Given the description of an element on the screen output the (x, y) to click on. 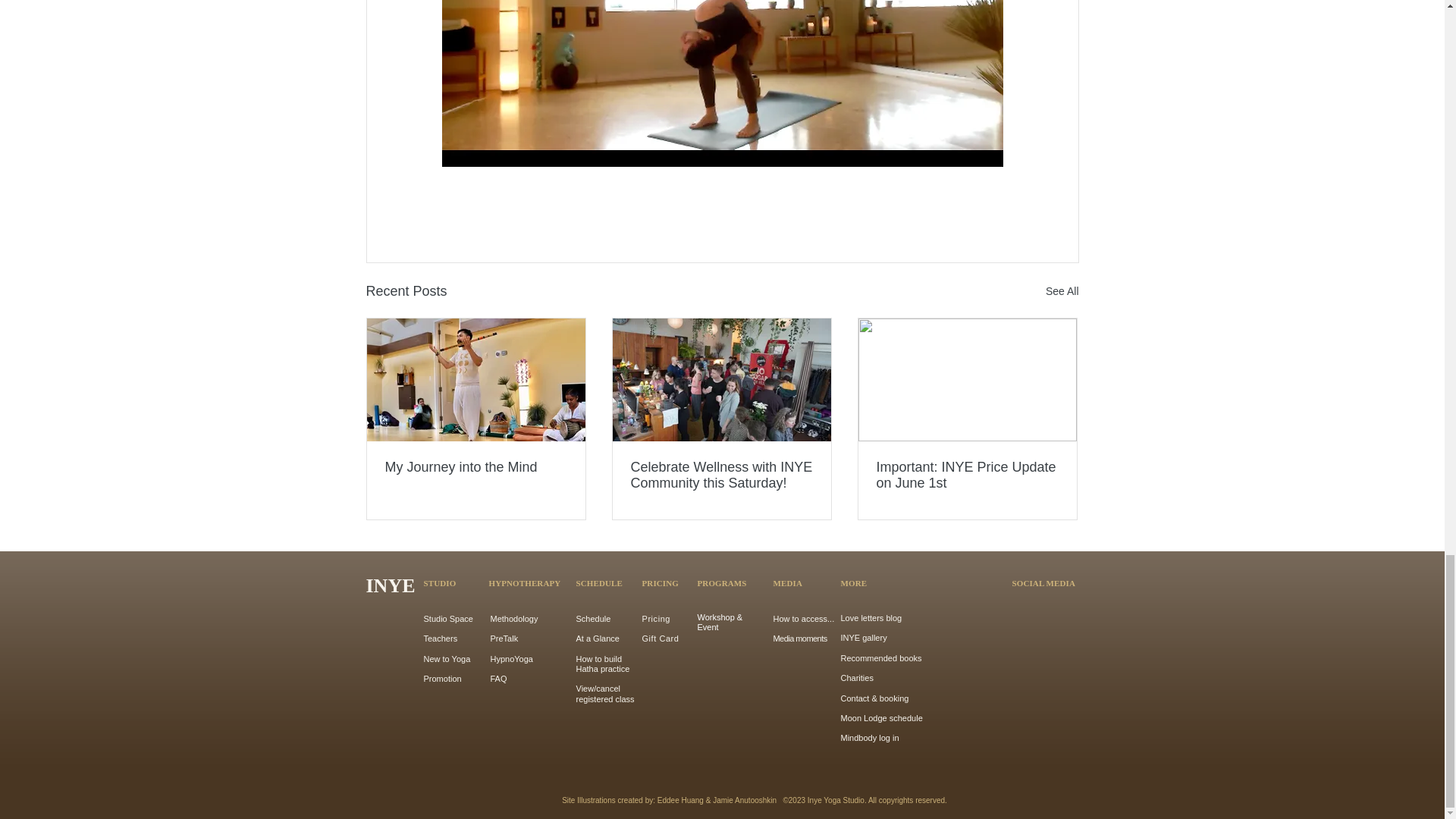
Schedule (593, 618)
My Journey into the Mind (476, 467)
FAQ (497, 678)
New to Yoga (446, 658)
Teachers (440, 637)
Methodology (513, 618)
PreTalk (503, 637)
Promotion (442, 678)
Important: INYE Price Update on June 1st (967, 475)
Celebrate Wellness with INYE Community this Saturday! (721, 475)
See All (1061, 291)
At a Glance (598, 637)
Studio Space (447, 618)
MORE (853, 583)
HypnoYoga (510, 658)
